Given the description of an element on the screen output the (x, y) to click on. 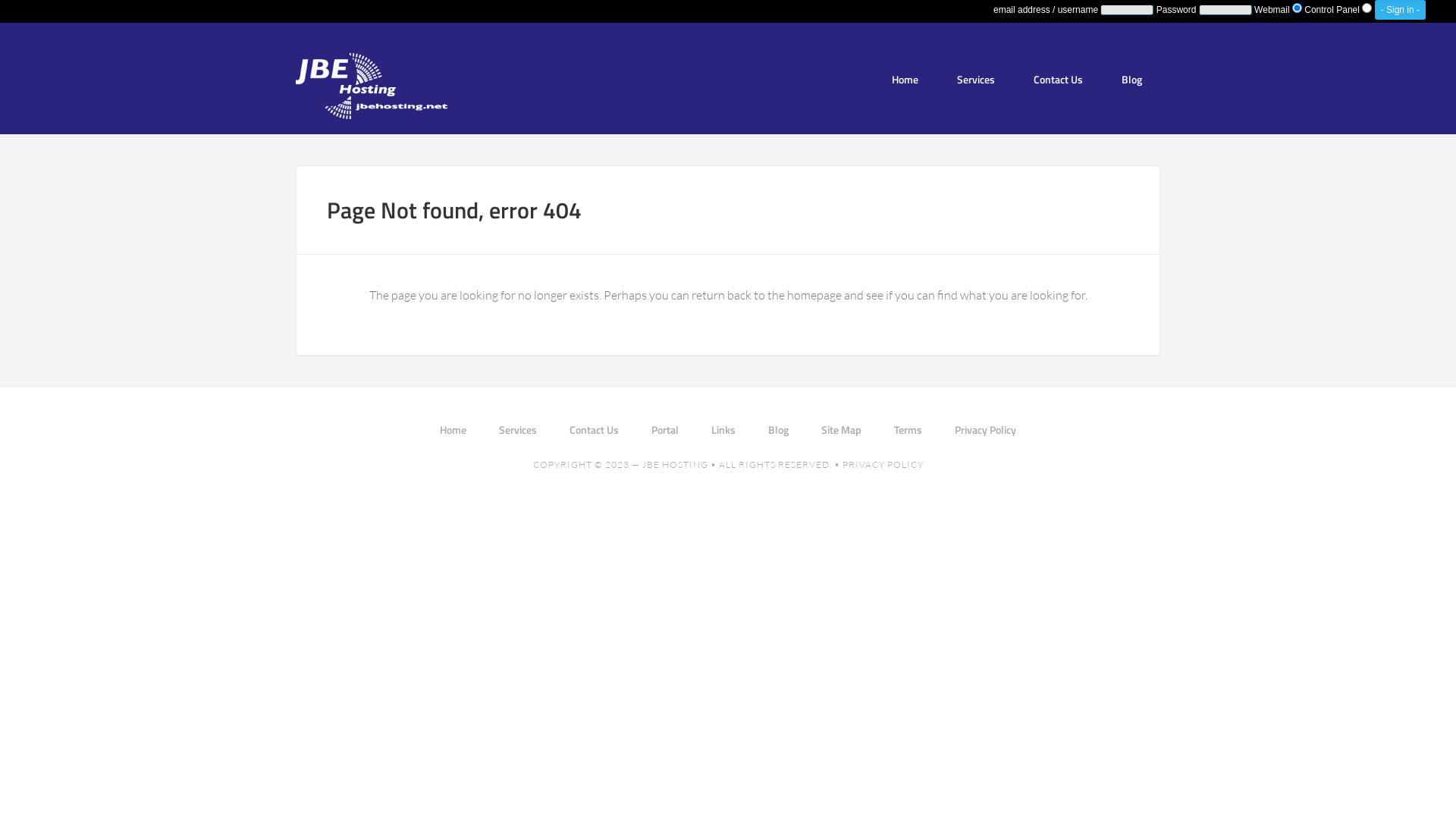
Contact Us Element type: text (1058, 79)
Services Element type: text (975, 79)
Services Element type: text (517, 429)
Privacy Policy Element type: text (985, 429)
JBE HOSTING Element type: text (674, 464)
Terms Element type: text (907, 429)
Links Element type: text (723, 429)
Blog Element type: text (778, 429)
Portal Element type: text (664, 429)
Home Element type: text (452, 429)
Blog Element type: text (1131, 79)
PRIVACY POLICY Element type: text (881, 464)
Home Element type: text (904, 79)
 - Sign in -  Element type: text (1399, 9)
Contact Us Element type: text (593, 429)
Site Map Element type: text (841, 429)
